Given the description of an element on the screen output the (x, y) to click on. 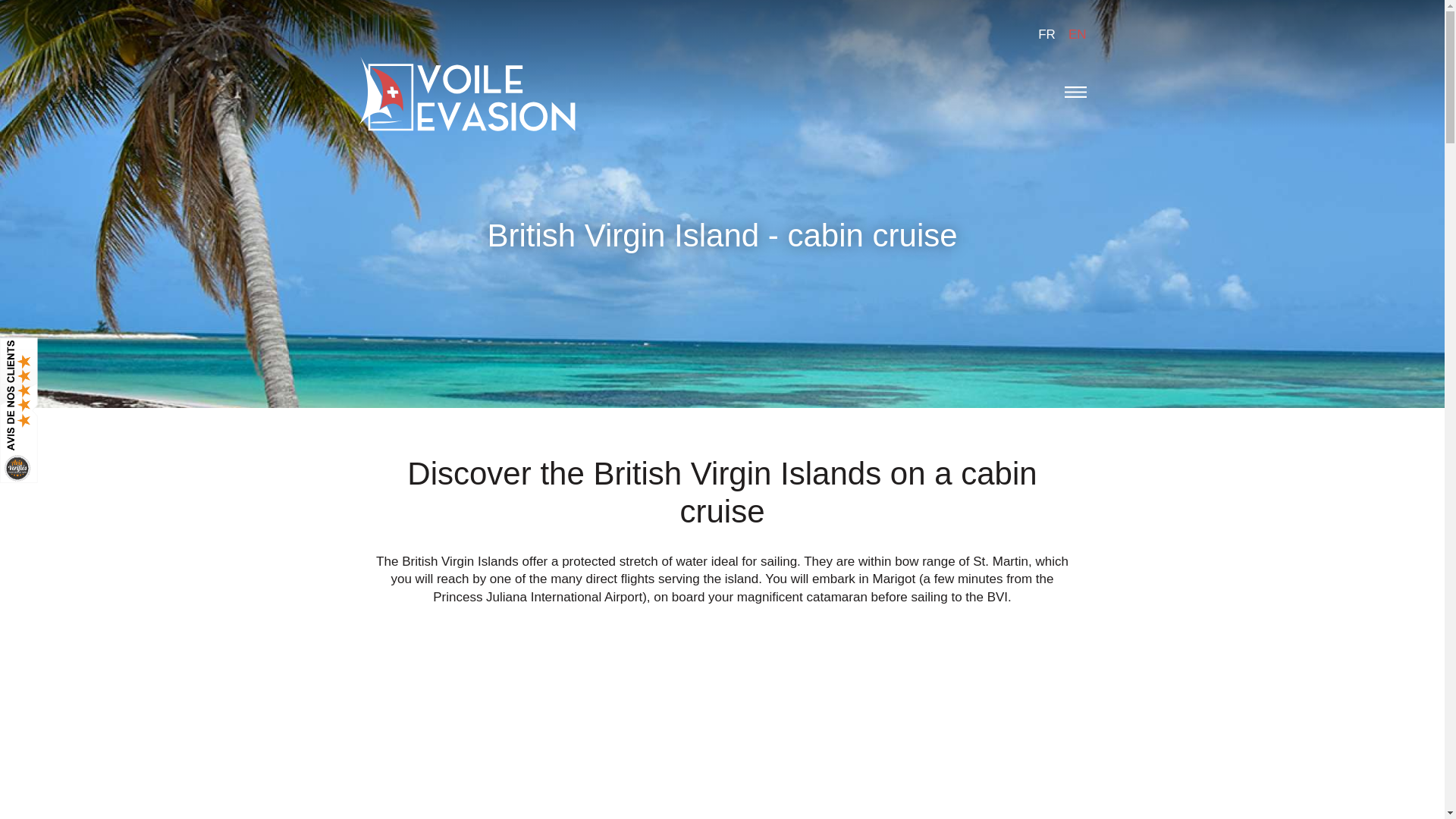
FR (1046, 34)
EN (1077, 34)
